Given the description of an element on the screen output the (x, y) to click on. 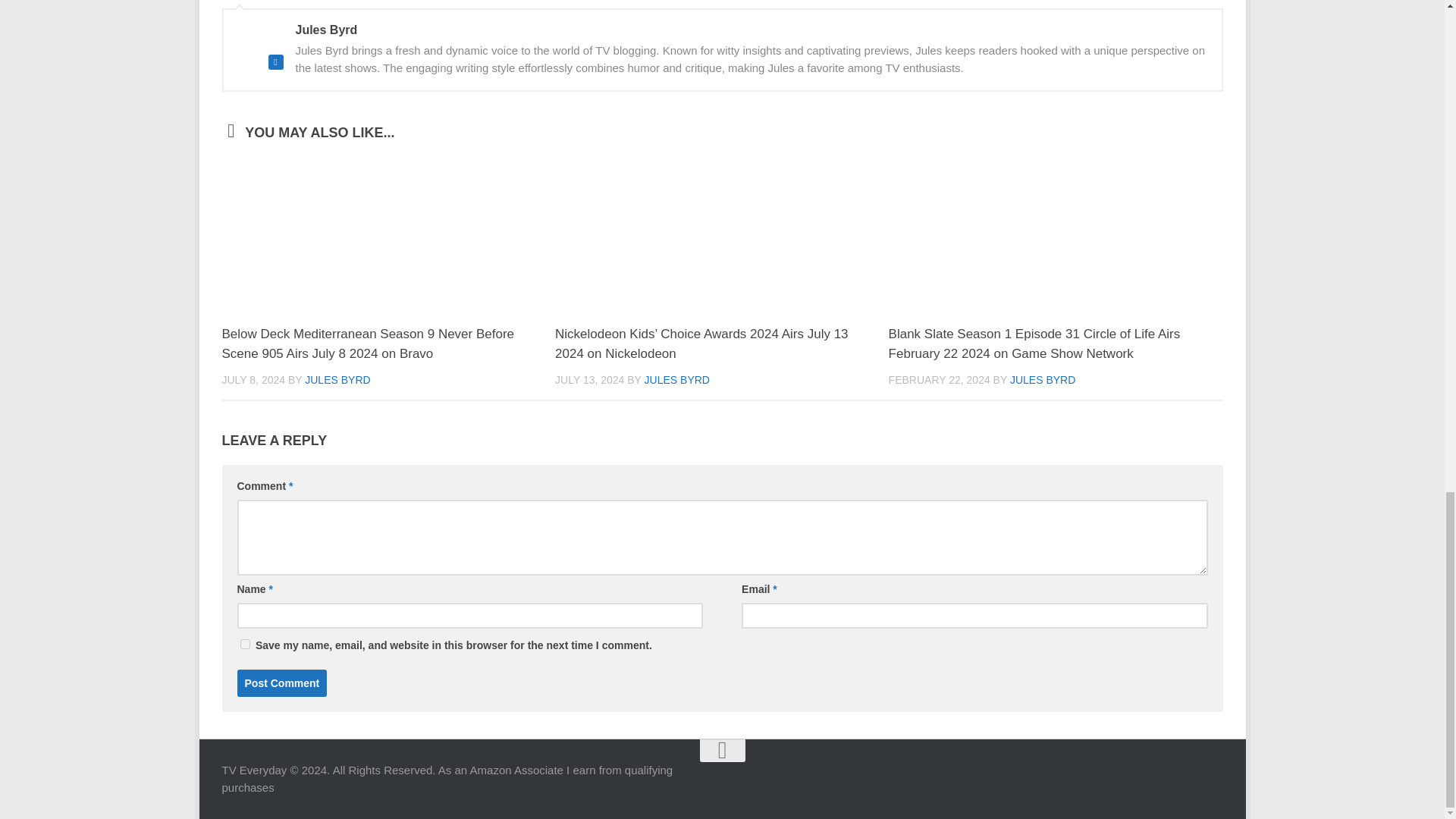
JULES BYRD (677, 379)
Post Comment (280, 682)
Posts by Jules Byrd (336, 379)
Posts by Jules Byrd (1042, 379)
JULES BYRD (1042, 379)
Posts by Jules Byrd (677, 379)
JULES BYRD (336, 379)
Post Comment (280, 682)
yes (244, 644)
